Given the description of an element on the screen output the (x, y) to click on. 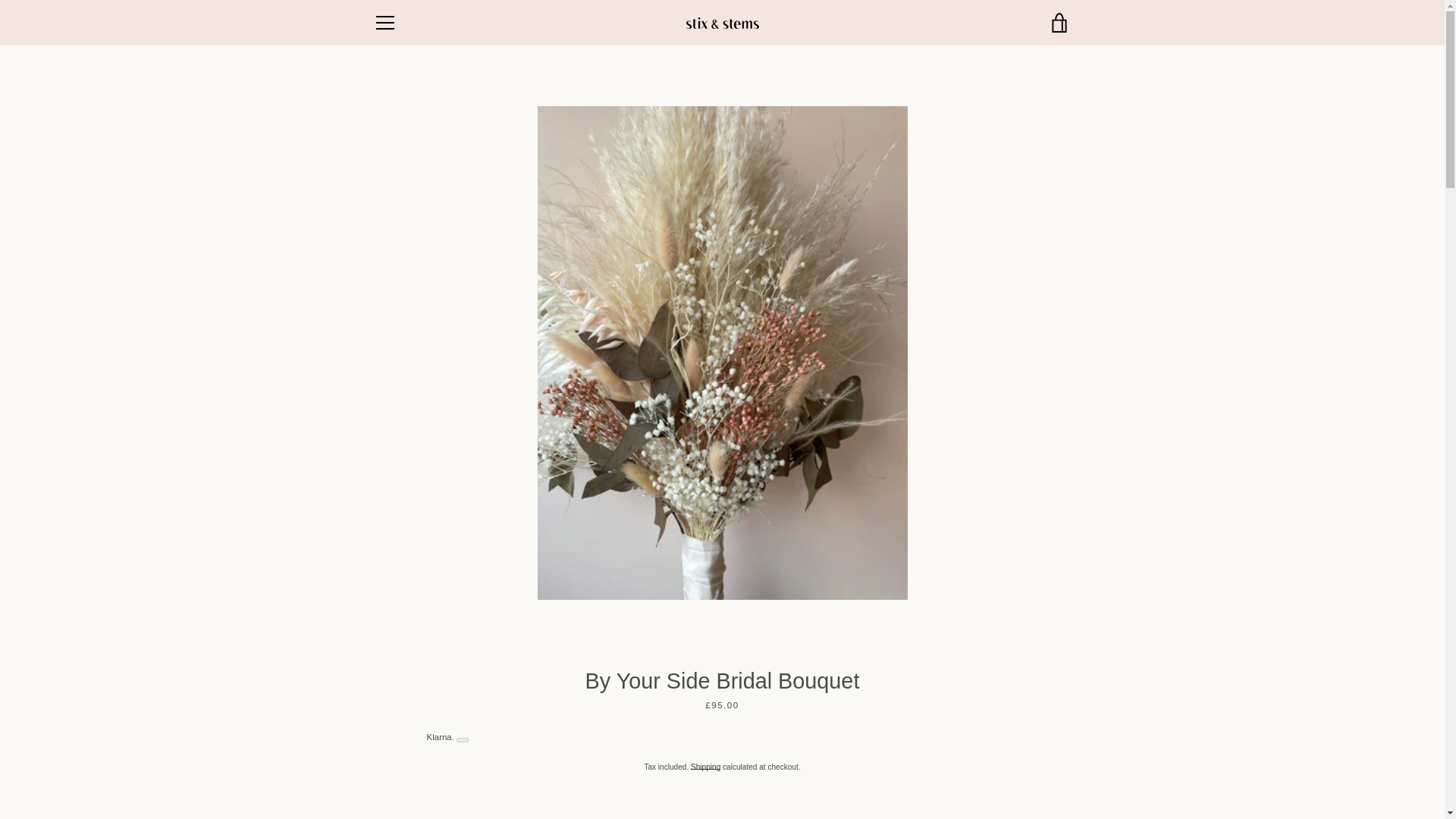
Diners Club (953, 755)
PayPal (918, 778)
Google Pay (1022, 755)
Visa (1022, 778)
Maestro (1057, 755)
MENU (384, 22)
Shipping (705, 766)
Discover (988, 755)
VIEW CART (1059, 22)
American Express (883, 755)
Mastercard (883, 778)
Shop Pay (953, 778)
Apple Pay (918, 755)
Union Pay (988, 778)
